Given the description of an element on the screen output the (x, y) to click on. 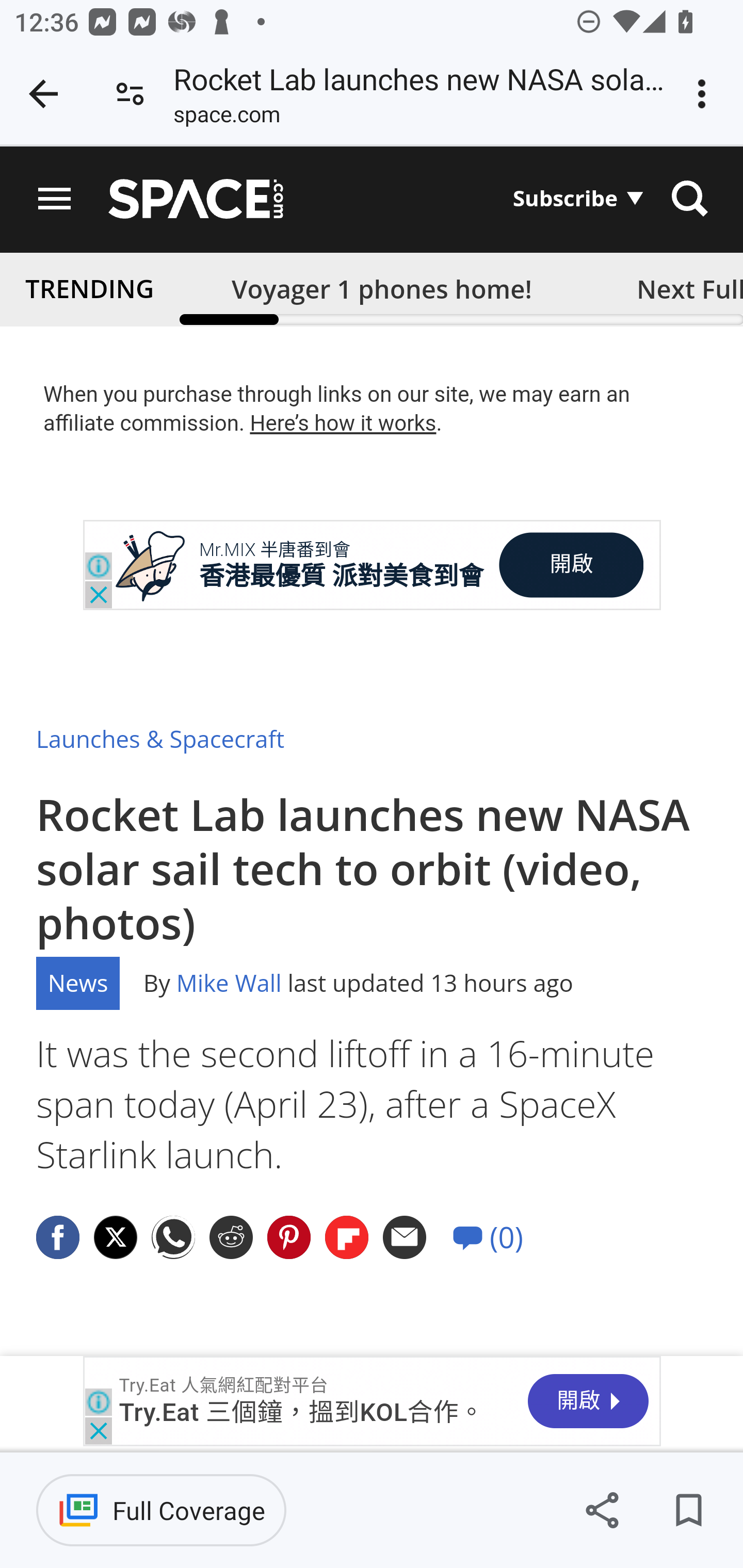
Close tab (43, 93)
Customize and control Google Chrome (705, 93)
Connection is secure (129, 93)
space.com (226, 117)
Open menu (54, 199)
Space (195, 199)
Search (689, 199)
Subscribe (577, 197)
Voyager 1 phones home! (381, 288)
Next Full Moon (682, 288)
Here’s how it works (342, 423)
News (78, 982)
Mike Wall (227, 982)
Share this page on Facebook (58, 1237)
 Share this page on Twitter (115, 1237)
Share this page on WhatsApp (173, 1237)
Share this page on Reddit  (230, 1237)
Share this page on Pinterest (289, 1237)
Share this page on Flipboard (347, 1237)
Share this page on your Email  (404, 1237)
(0)  (0) (487, 1237)
Full Coverage (161, 1509)
Share (601, 1510)
Save for later (688, 1510)
